Given the description of an element on the screen output the (x, y) to click on. 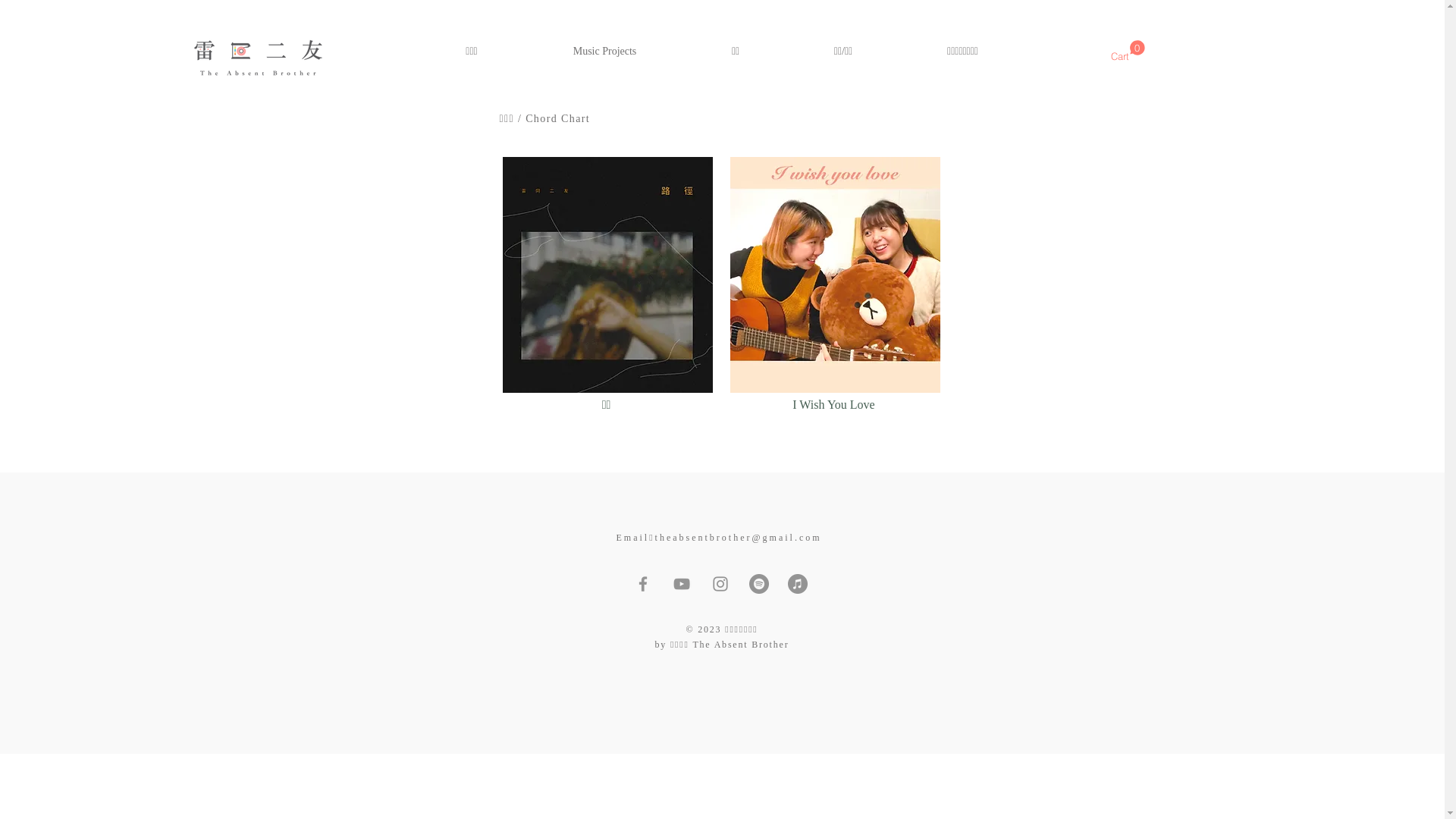
Music Projects Element type: text (604, 51)
theabsentbrother@gmail.com Element type: text (738, 537)
0
Cart Element type: text (1127, 51)
